Given the description of an element on the screen output the (x, y) to click on. 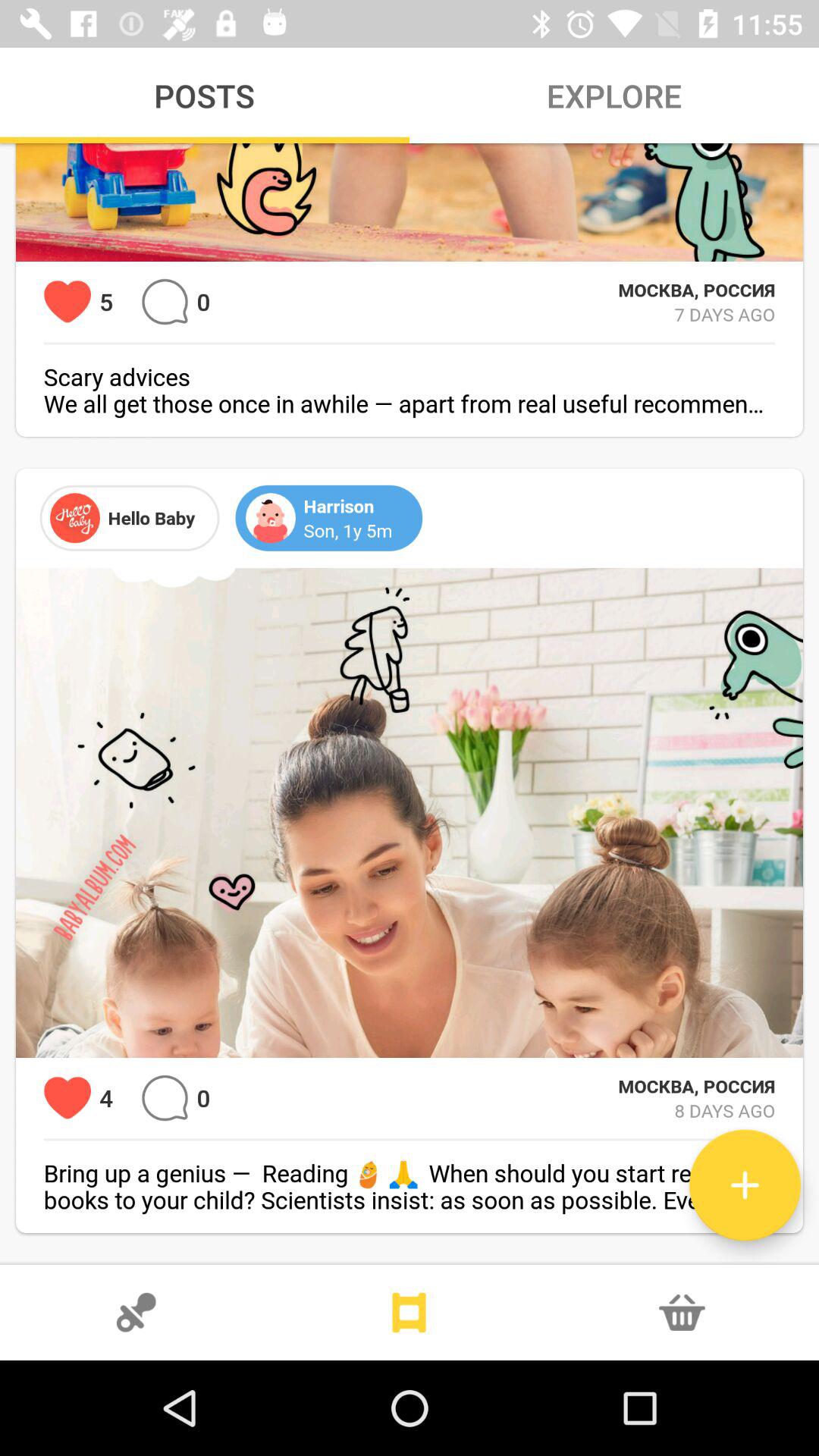
indicates number of hearts previously selected (67, 301)
